Given the description of an element on the screen output the (x, y) to click on. 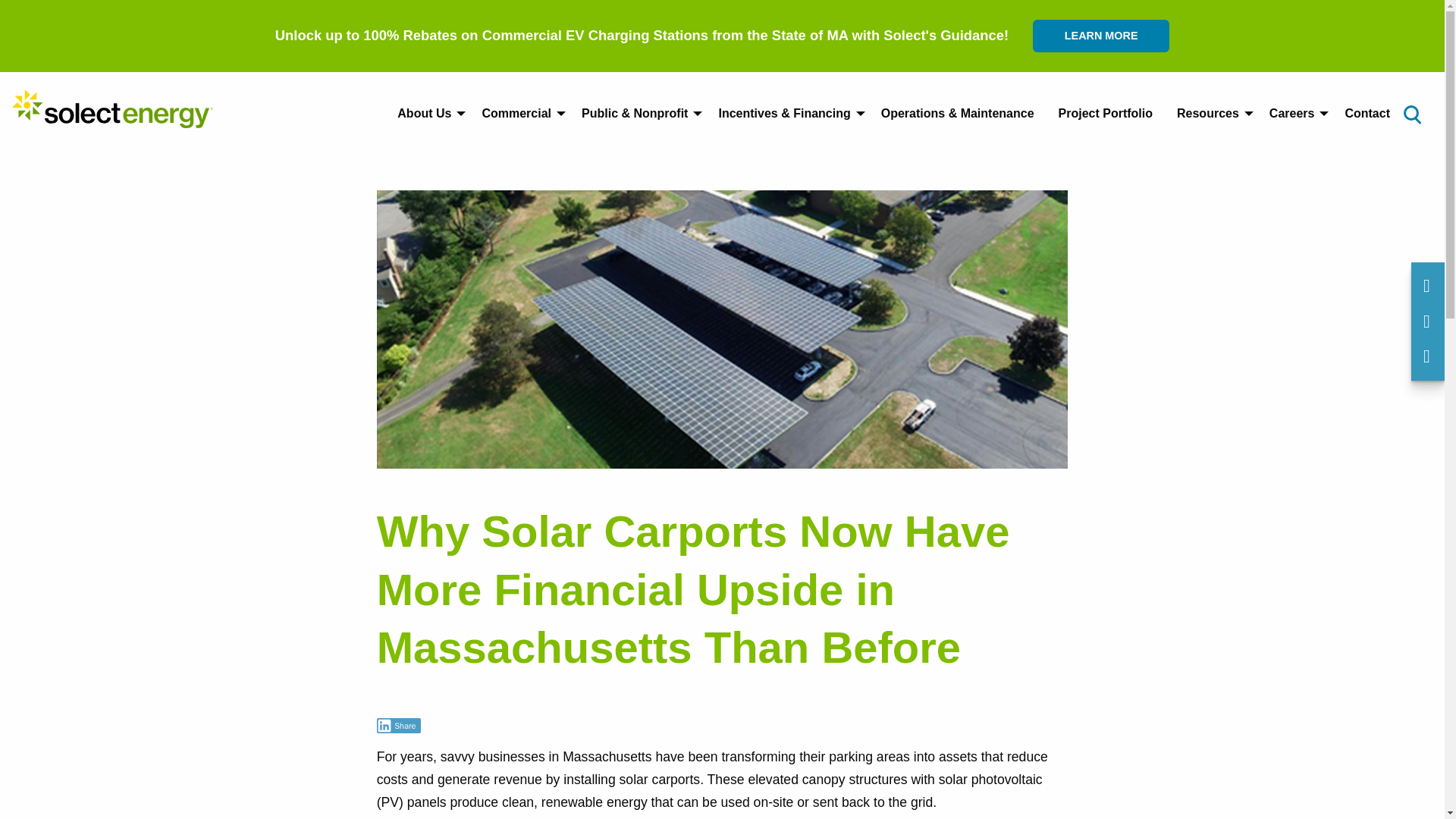
Commercial (518, 113)
LEARN MORE (1100, 36)
About Us (426, 113)
